Given the description of an element on the screen output the (x, y) to click on. 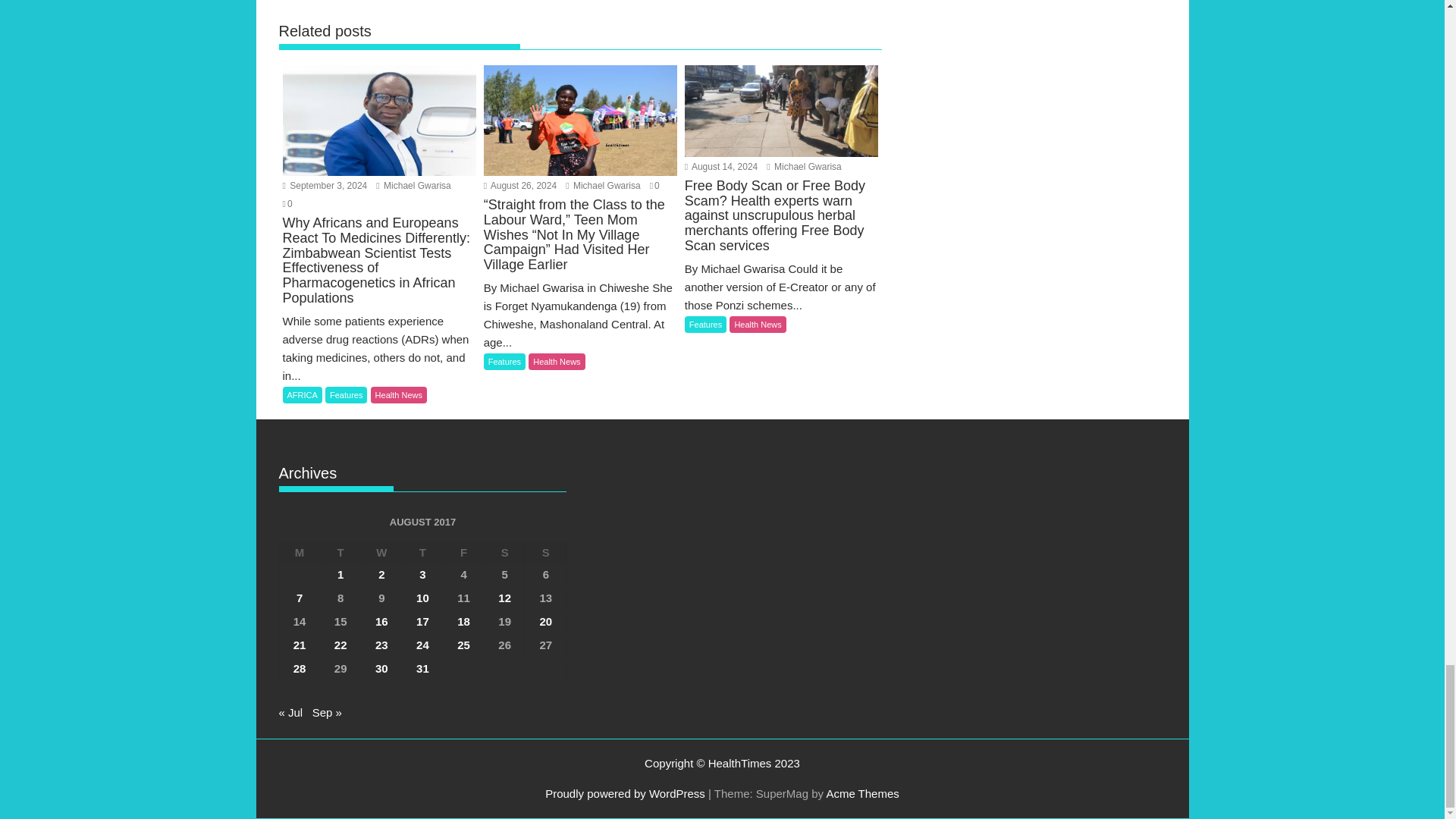
Michael Gwarisa (804, 166)
Monday (299, 552)
Michael Gwarisa (412, 185)
Michael Gwarisa (603, 185)
